Given the description of an element on the screen output the (x, y) to click on. 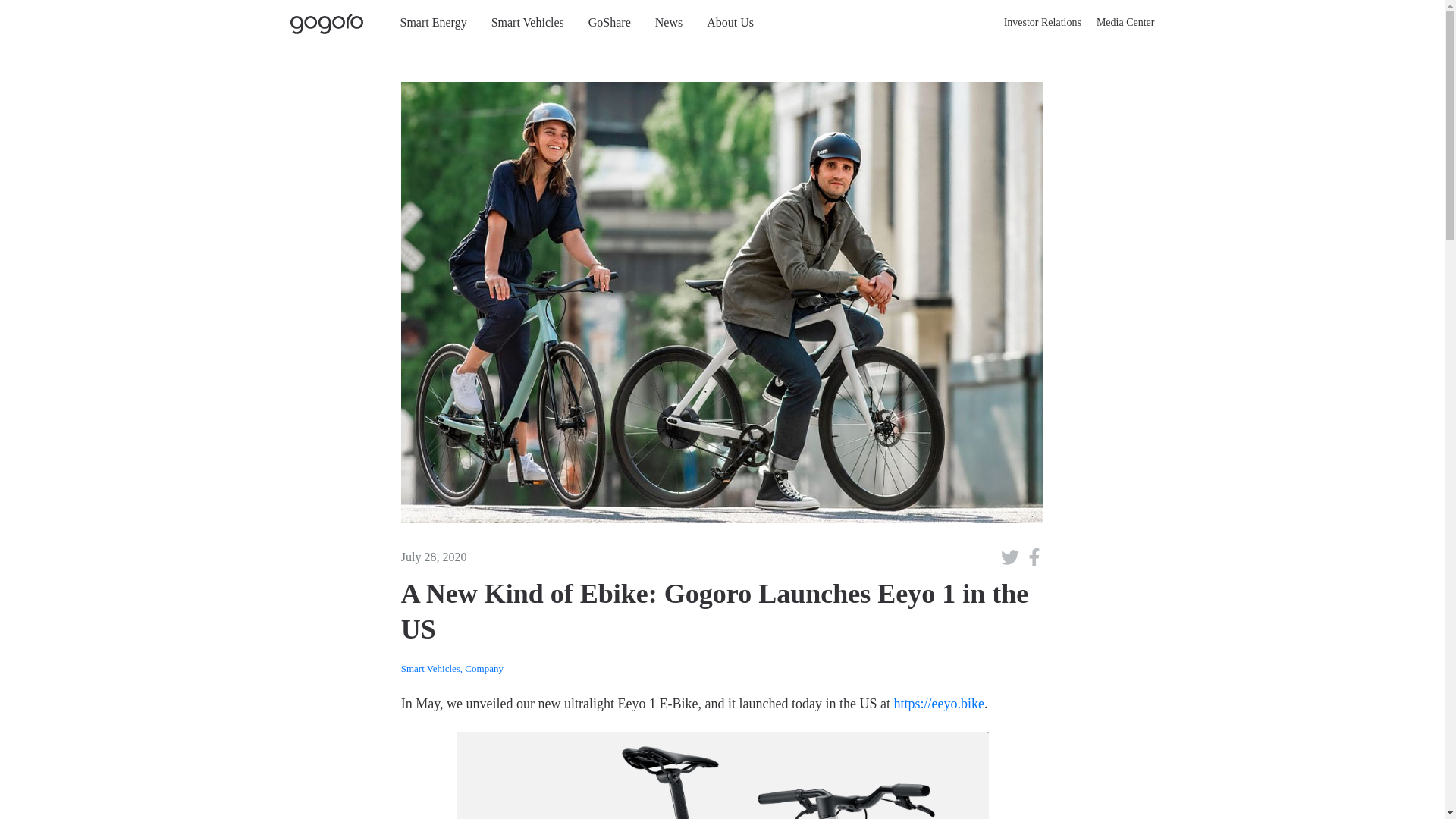
Gogoro (329, 22)
Investor Relations (1042, 22)
Smart Vehicles (527, 22)
Smart Energy (433, 22)
About Us (729, 22)
GoShare (609, 22)
Media Center (1125, 22)
News (668, 22)
